Given the description of an element on the screen output the (x, y) to click on. 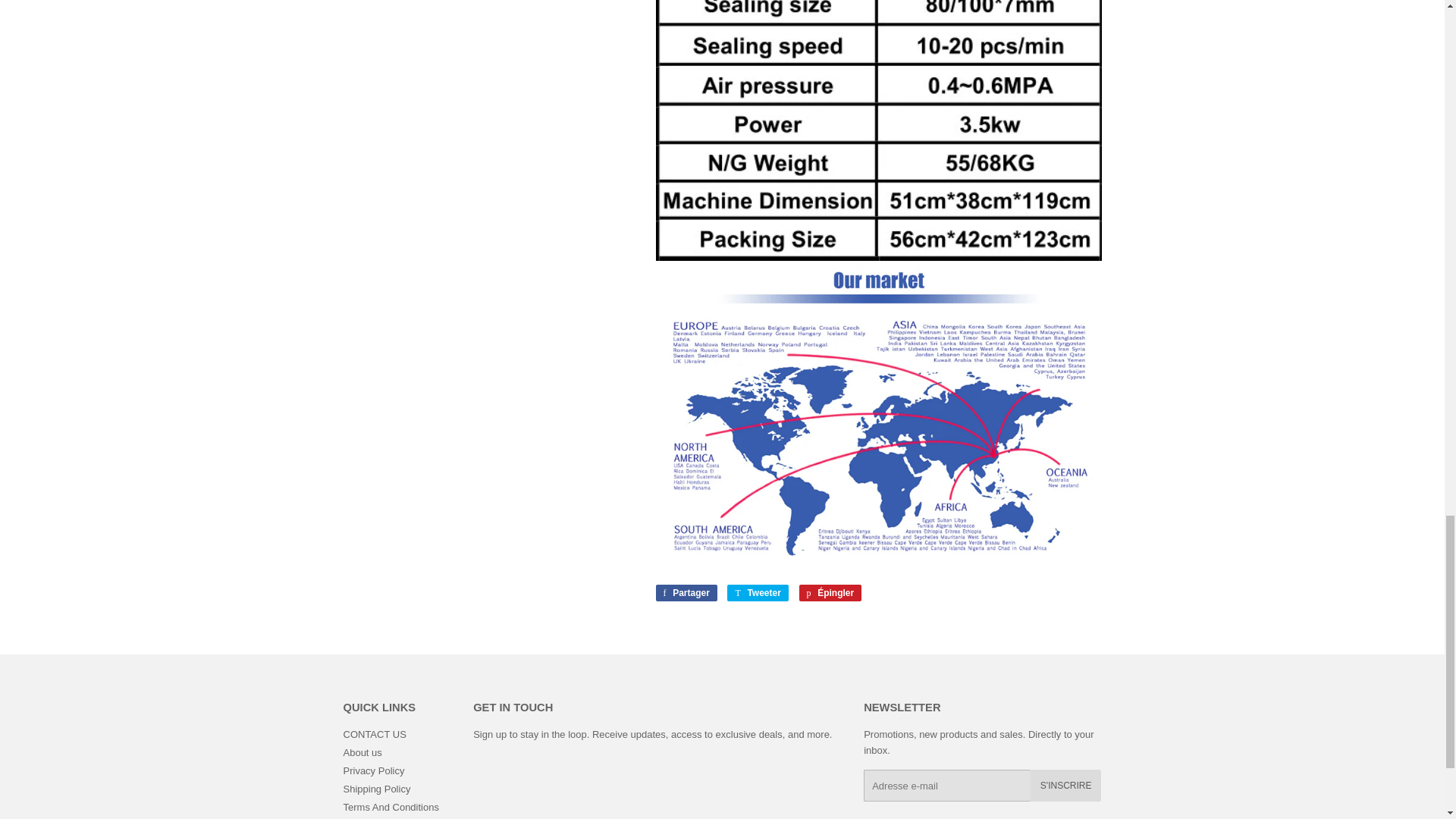
Tweeter sur Twitter (756, 592)
Partager sur Facebook (685, 592)
